Given the description of an element on the screen output the (x, y) to click on. 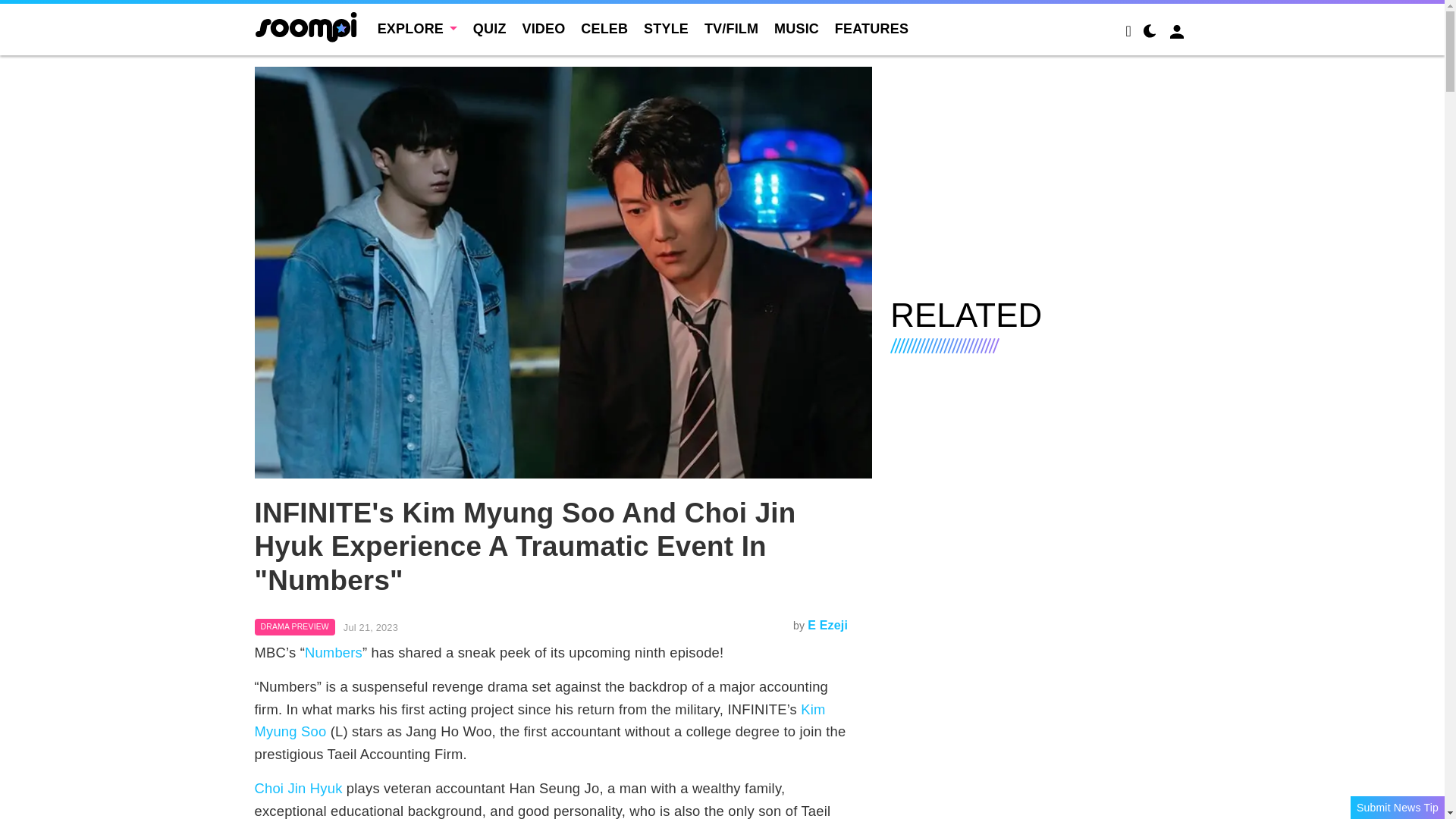
CELEB (603, 28)
Drama Preview (294, 627)
STYLE (665, 28)
MUSIC (796, 28)
Night Mode Toggle (1149, 33)
VIDEO (542, 28)
Articles by E Ezeji (827, 625)
FEATURES (871, 28)
Numbers (333, 652)
EXPLORE (417, 28)
